Given the description of an element on the screen output the (x, y) to click on. 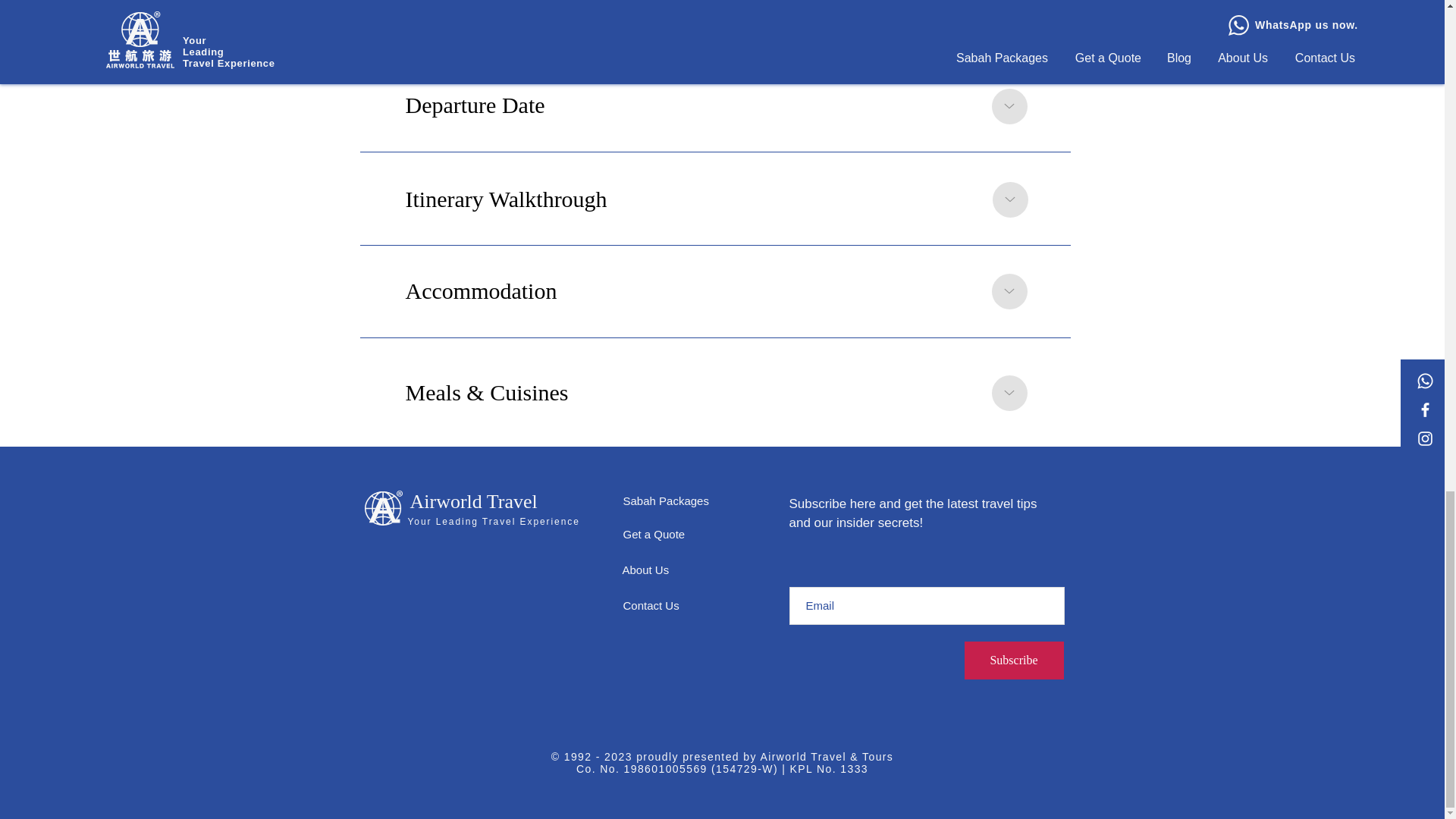
Sabah Packages (666, 500)
Airworld Travel (473, 501)
Get a Quote (654, 533)
Contact Us (651, 604)
About Us (644, 569)
Subscribe (1013, 660)
